Given the description of an element on the screen output the (x, y) to click on. 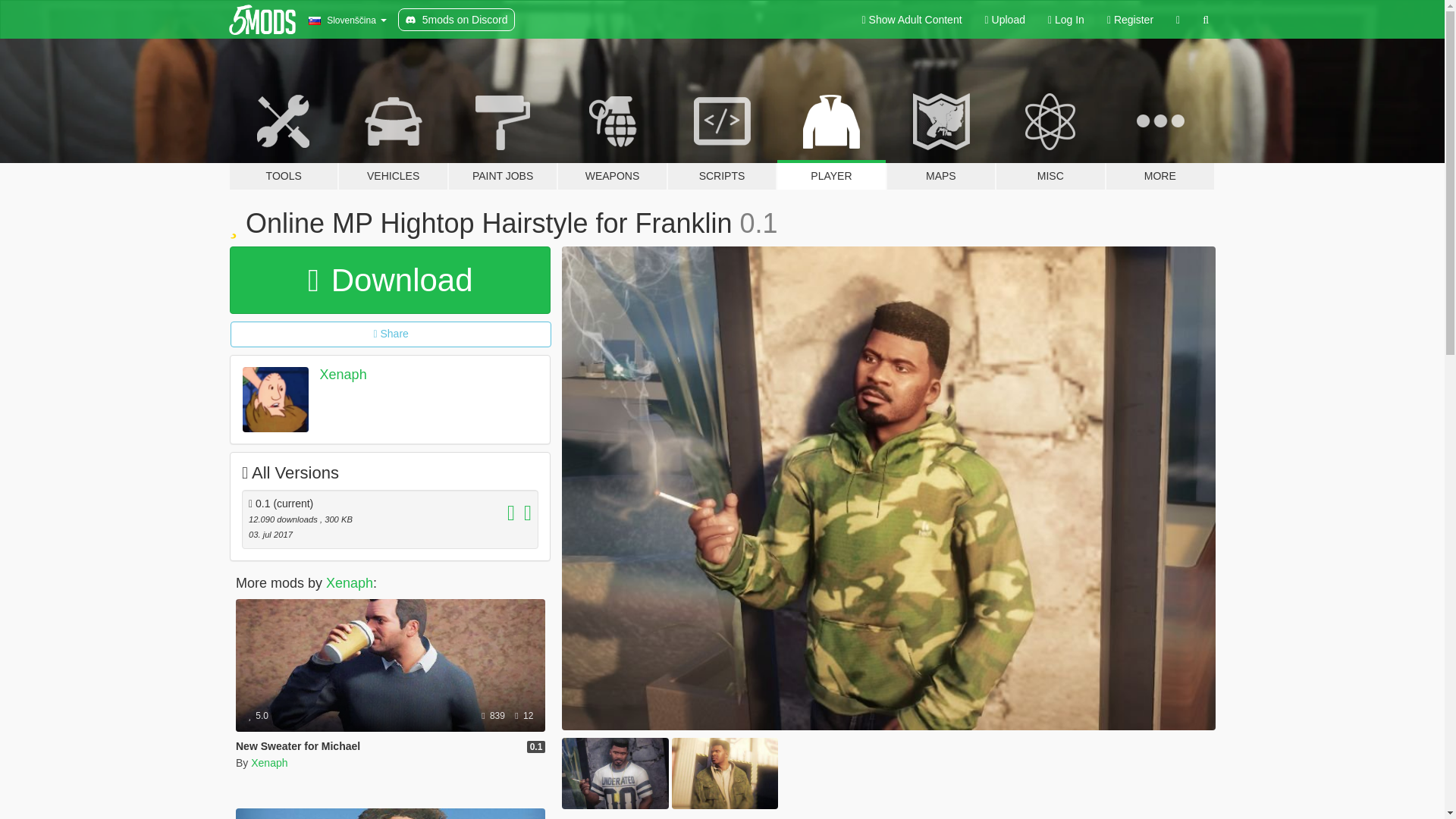
Light mode (912, 19)
Log In (1066, 19)
5mods on Discord (456, 19)
Register (1130, 19)
Show Adult Content (912, 19)
New Hair for Trevor (389, 813)
Upload (1005, 19)
New Sweater for Michael (297, 746)
12 Likes (523, 715)
New Sweater for Michael (389, 665)
